Given the description of an element on the screen output the (x, y) to click on. 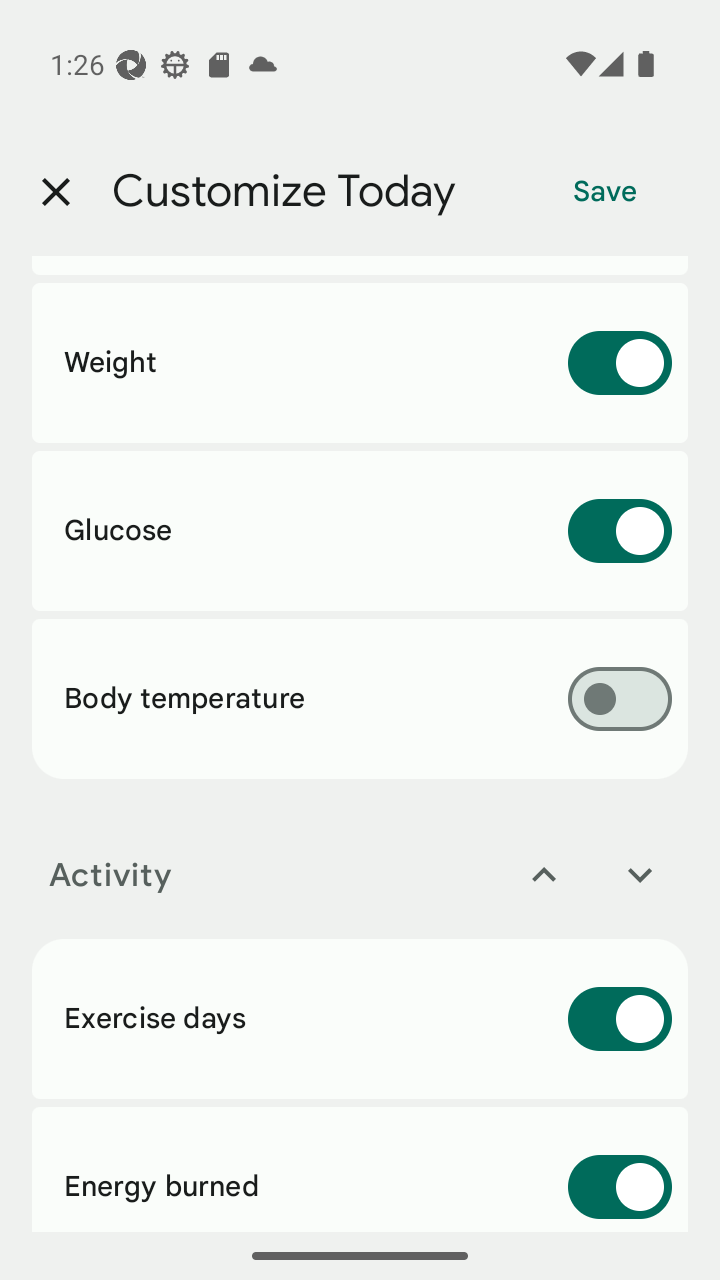
Close (55, 191)
Save (605, 191)
Weight (359, 362)
Glucose (359, 530)
Body temperature (359, 699)
Move Activity up (543, 874)
Move Activity down (639, 874)
Exercise days (359, 1019)
Energy burned (359, 1169)
